Given the description of an element on the screen output the (x, y) to click on. 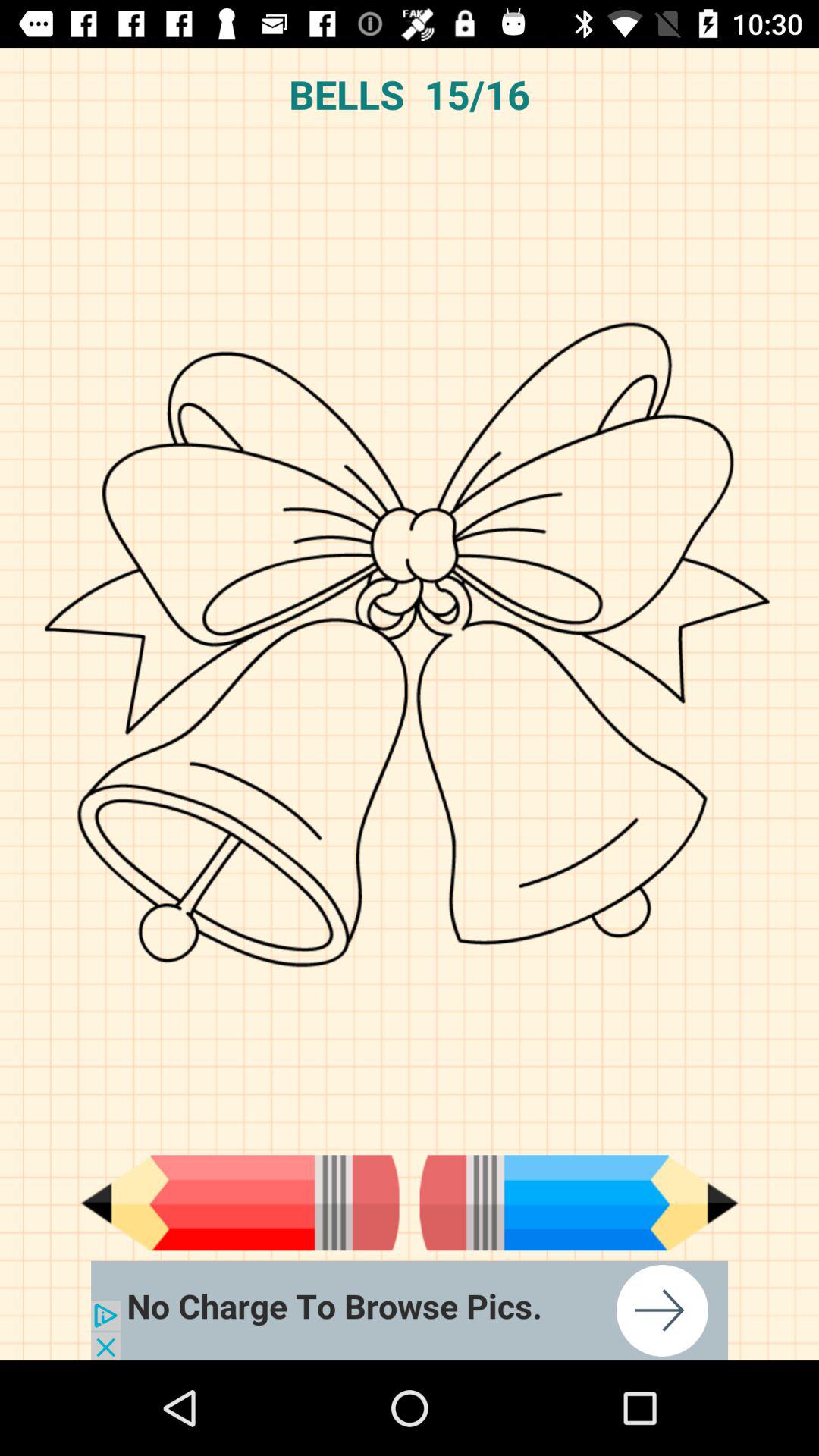
open the advertisement link (409, 1310)
